Given the description of an element on the screen output the (x, y) to click on. 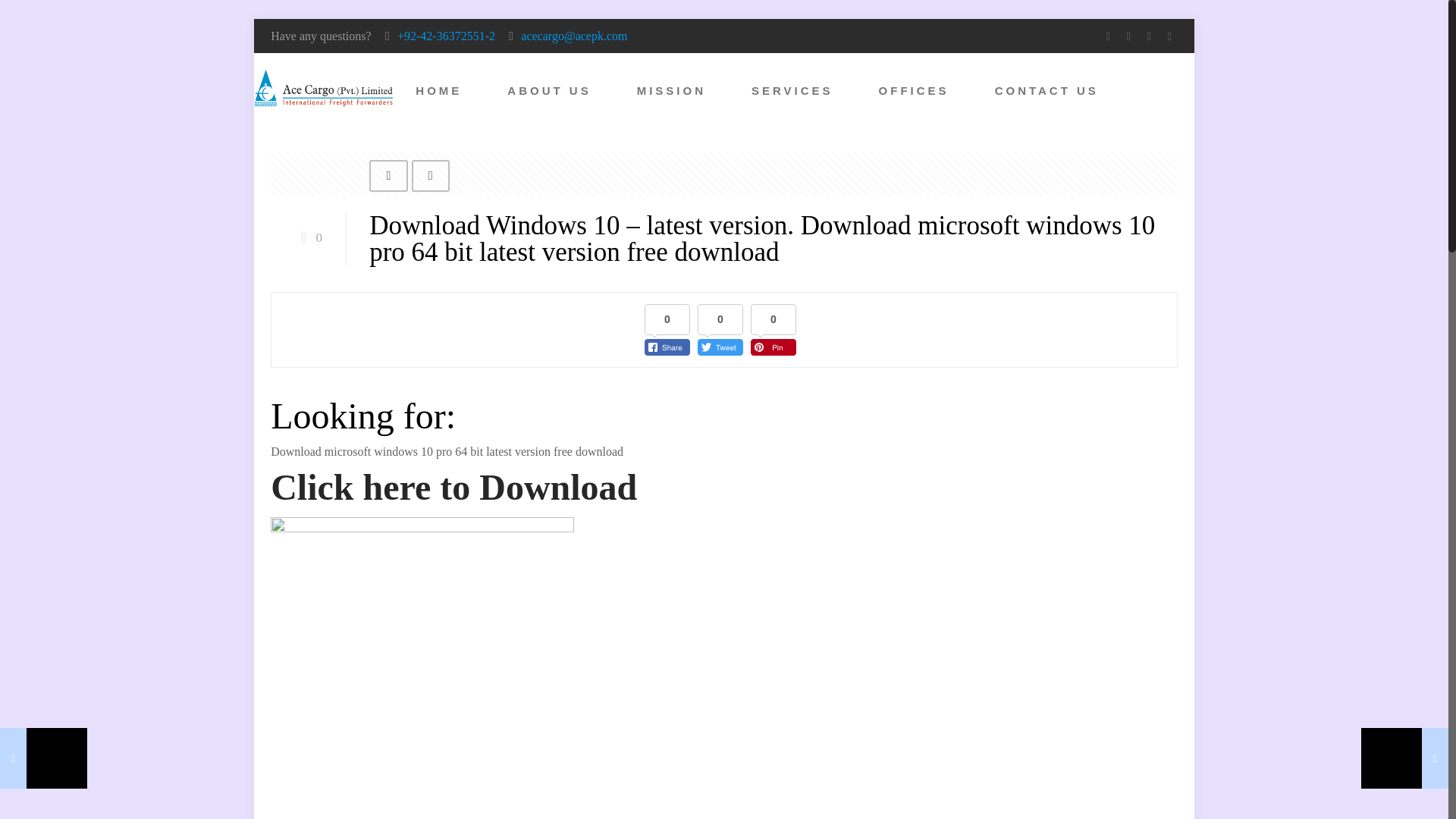
Click here to Download (453, 495)
WhatsApp (1108, 36)
HOME (438, 90)
SERVICES (792, 90)
CONTACT US (1046, 90)
0 (307, 237)
MISSION (671, 90)
Facebook (1129, 36)
Flickr (1169, 36)
OFFICES (914, 90)
ABOUT US (548, 90)
